Given the description of an element on the screen output the (x, y) to click on. 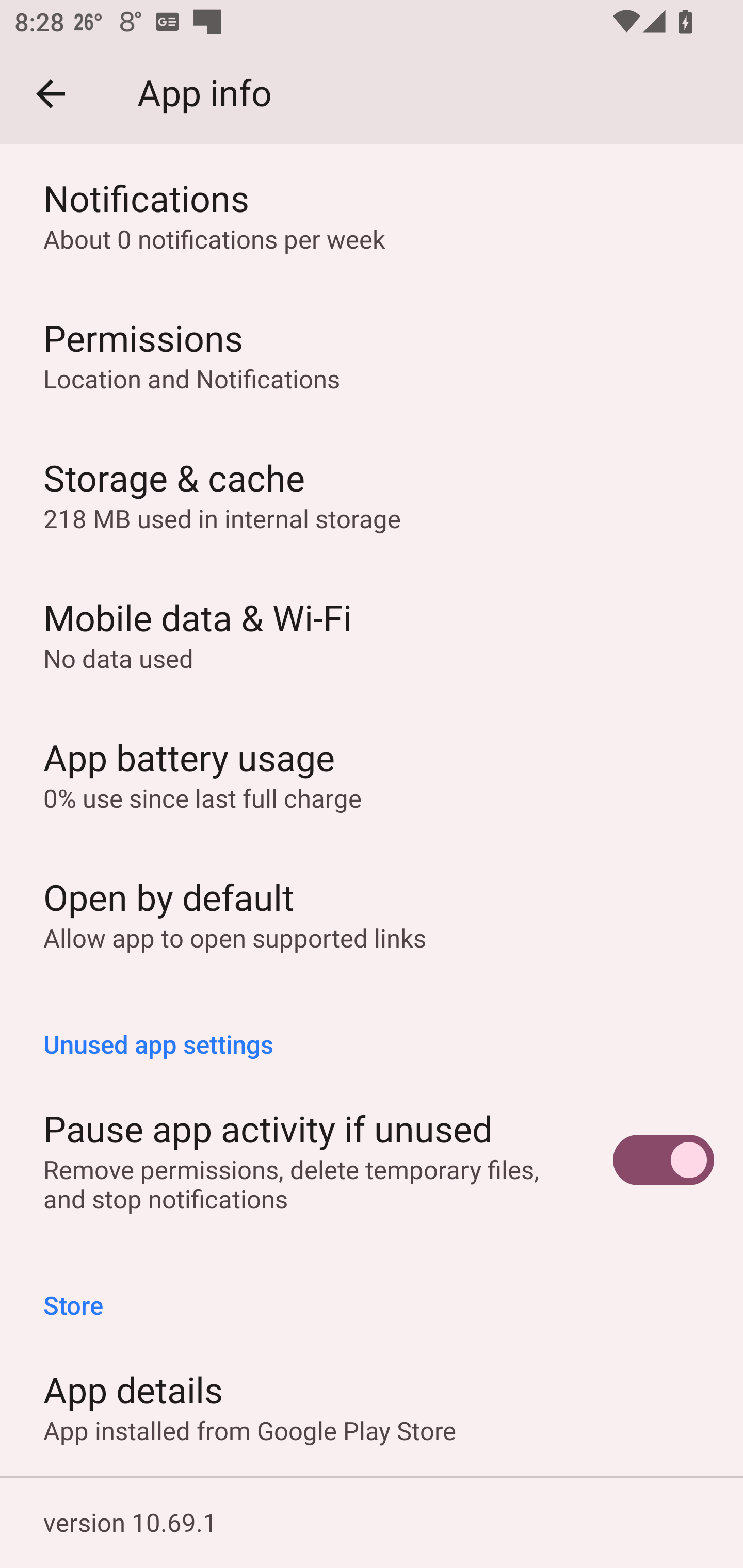
Navigate up (50, 93)
Notifications About 0 notifications per week (371, 214)
Permissions Location and Notifications (371, 354)
Storage & cache 218 MB used in internal storage (371, 494)
Mobile data & Wi‑Fi No data used (371, 634)
App battery usage 0% use since last full charge (371, 773)
Open by default Allow app to open supported links (371, 913)
App details App installed from Google Play Store (371, 1405)
